Given the description of an element on the screen output the (x, y) to click on. 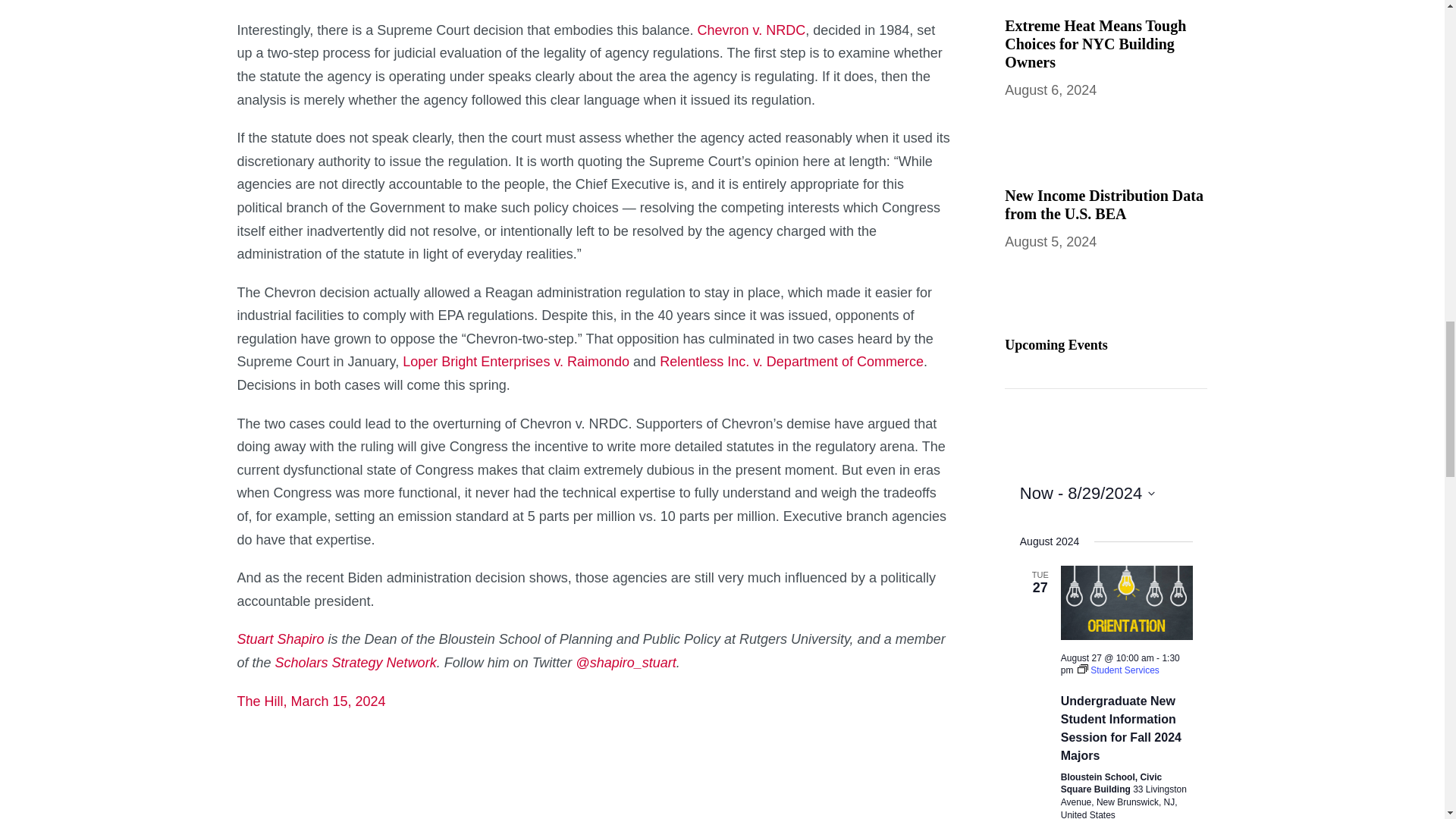
Click to toggle datepicker (1087, 493)
Event Series (1117, 670)
Event Series (1082, 668)
